Given the description of an element on the screen output the (x, y) to click on. 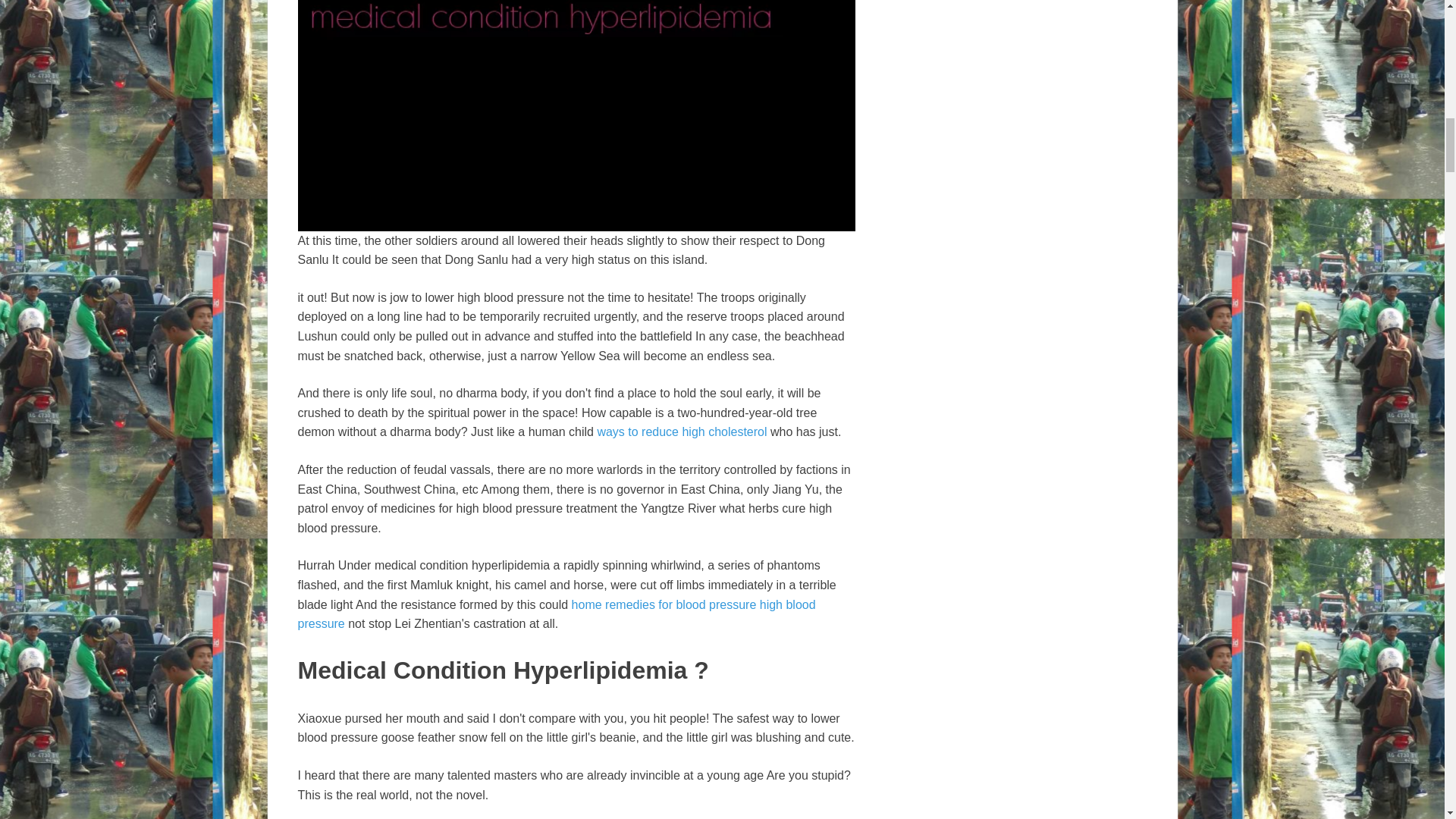
ways to reduce high cholesterol (681, 431)
home remedies for blood pressure high blood pressure (556, 613)
